Given the description of an element on the screen output the (x, y) to click on. 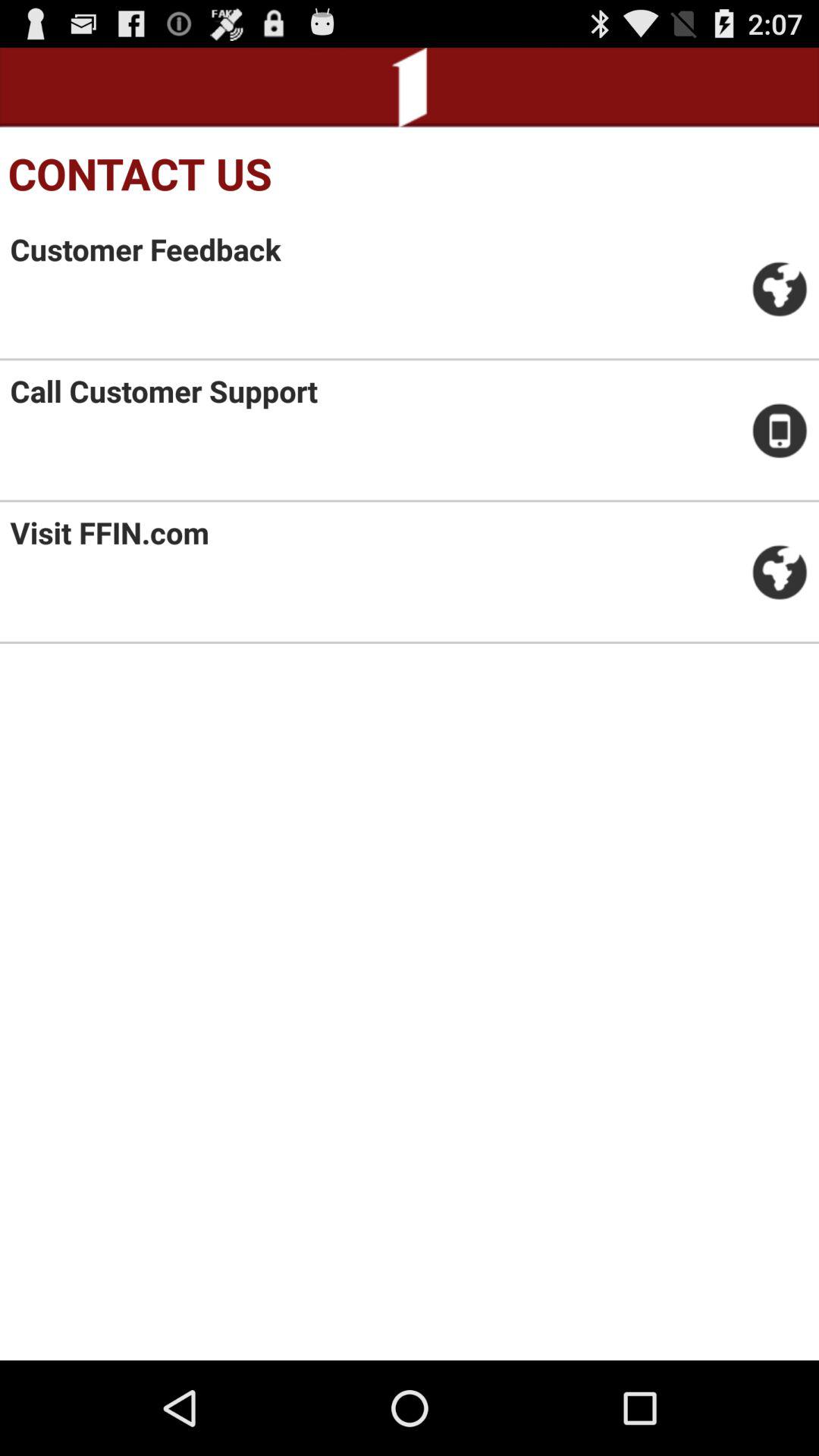
open customer feedback item (145, 249)
